Given the description of an element on the screen output the (x, y) to click on. 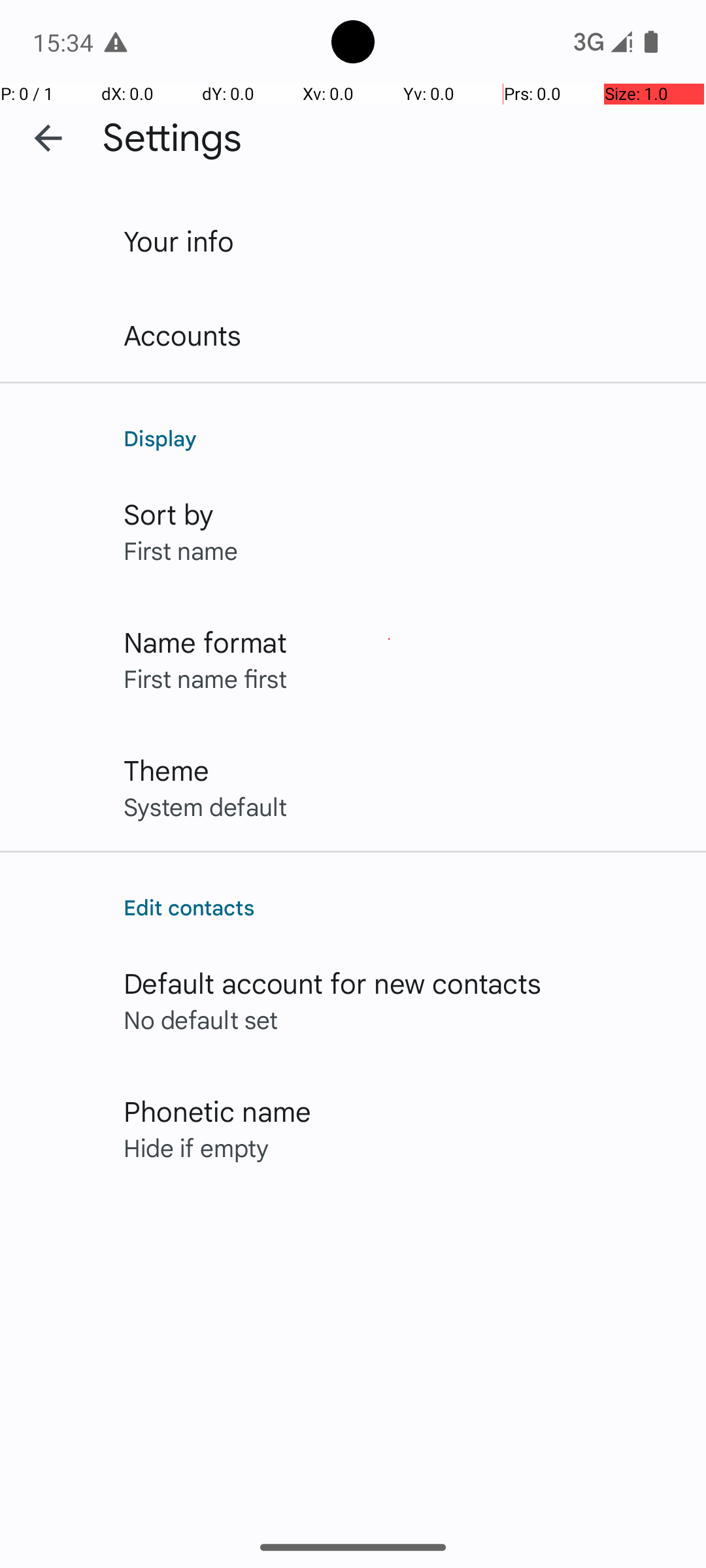
Your info Element type: android.widget.TextView (178, 240)
Accounts Element type: android.widget.TextView (182, 334)
Display Element type: android.widget.TextView (400, 437)
Sort by Element type: android.widget.TextView (168, 513)
First name Element type: android.widget.TextView (180, 550)
Name format Element type: android.widget.TextView (205, 641)
First name first Element type: android.widget.TextView (204, 678)
Theme Element type: android.widget.TextView (166, 769)
System default Element type: android.widget.TextView (204, 806)
Edit contacts Element type: android.widget.TextView (400, 906)
Default account for new contacts Element type: android.widget.TextView (332, 982)
No default set Element type: android.widget.TextView (200, 1019)
Phonetic name Element type: android.widget.TextView (217, 1110)
Hide if empty Element type: android.widget.TextView (196, 1147)
